Given the description of an element on the screen output the (x, y) to click on. 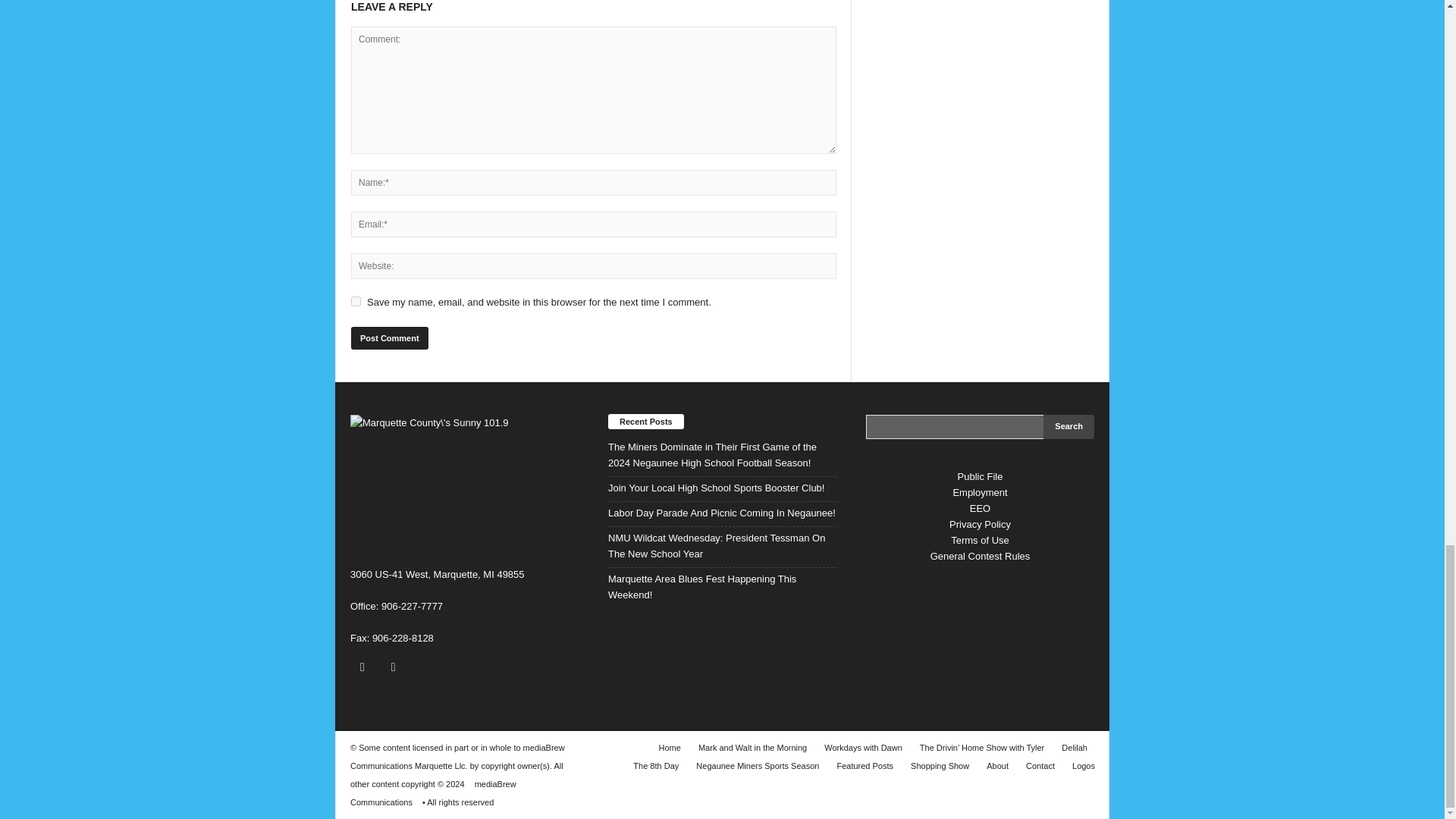
Post Comment (389, 337)
Search (1068, 426)
yes (355, 301)
